Given the description of an element on the screen output the (x, y) to click on. 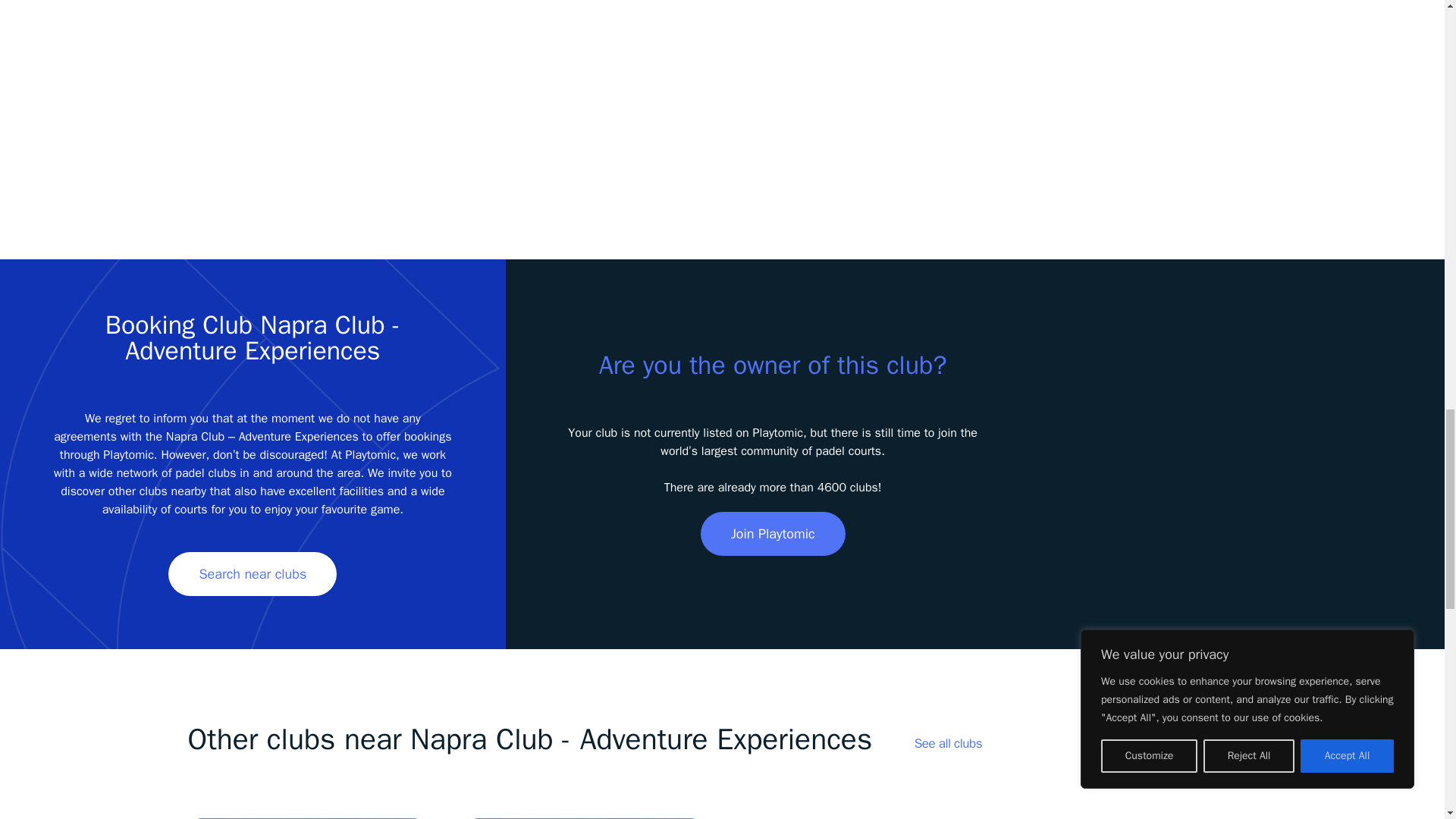
See all clubs (947, 743)
Search near clubs (252, 574)
Join Playtomic (772, 533)
